Given the description of an element on the screen output the (x, y) to click on. 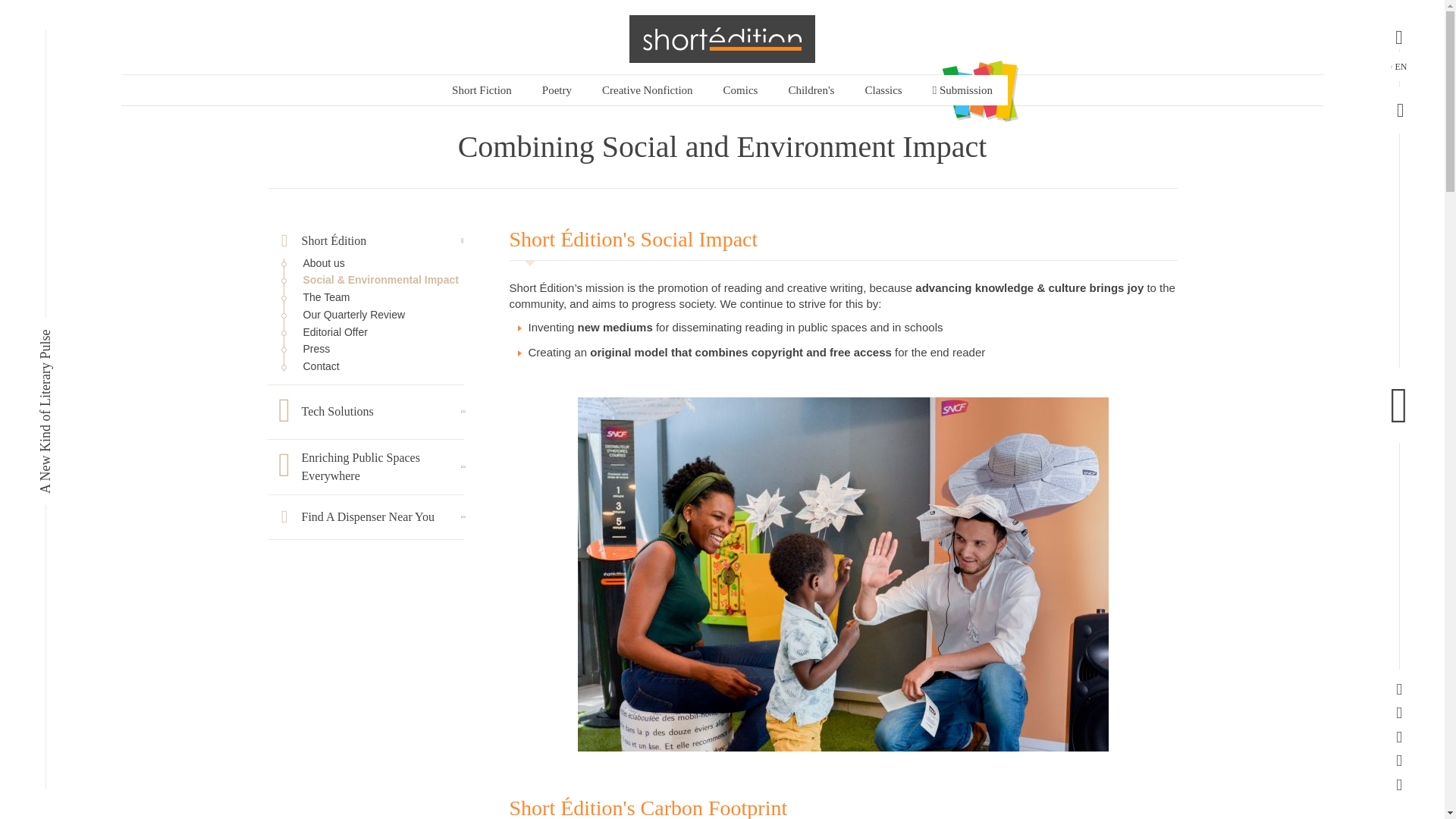
Click here to access Poetry category (556, 90)
Comics (740, 90)
Click here to access Creative Nonfiction category (646, 90)
  EN (1399, 66)
Home (721, 39)
Click here to access Short Fiction category (481, 90)
Short Fiction (481, 90)
Click here to access Classics category (882, 90)
Click here to access Comics category (740, 90)
Poetry (556, 90)
Submission (962, 90)
Click here to Login (1398, 109)
Classics (882, 90)
Creative Nonfiction (646, 90)
Submission (962, 90)
